Given the description of an element on the screen output the (x, y) to click on. 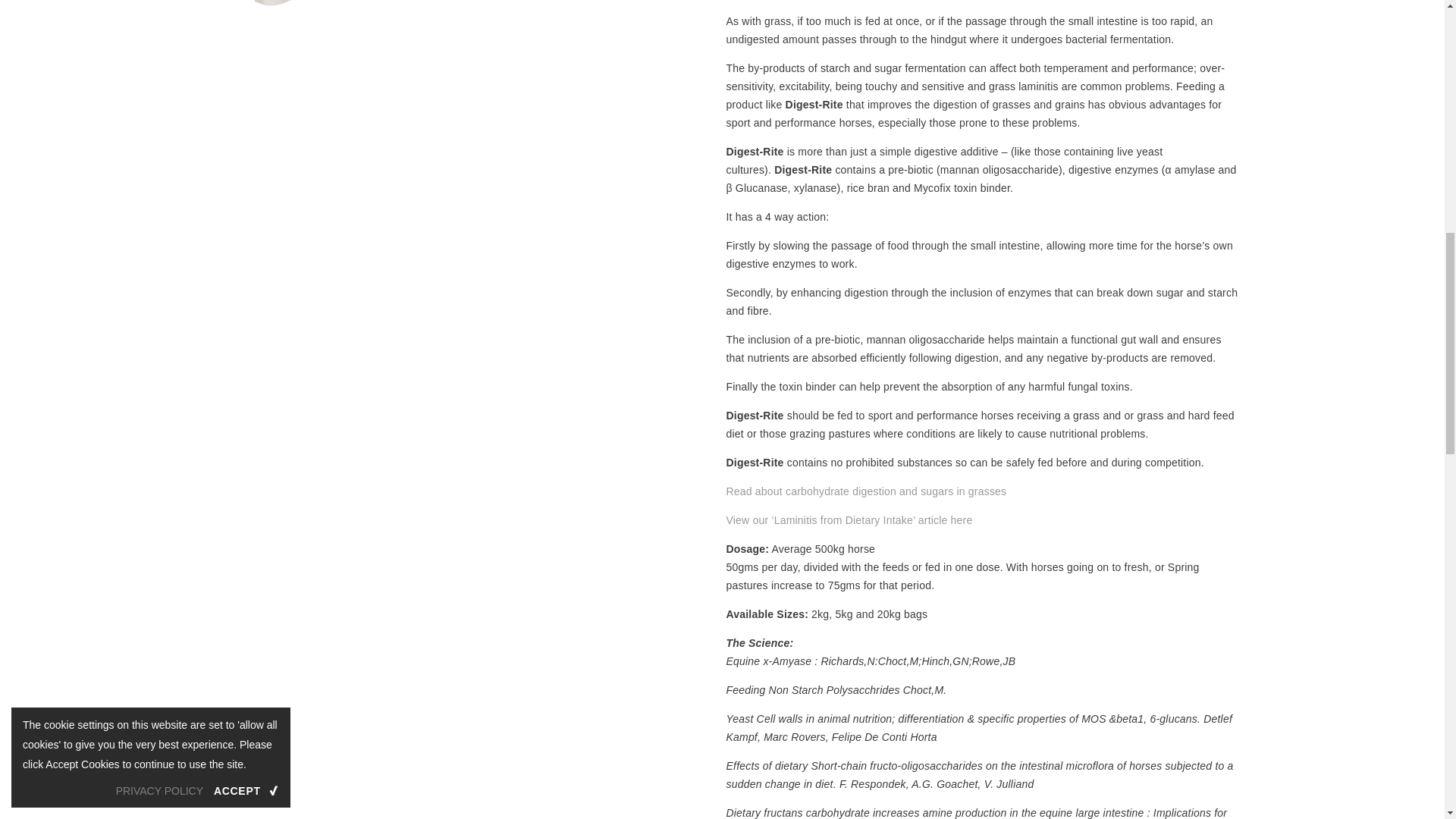
Read about carbohydrate digestion and sugars in grasses (866, 491)
